Given the description of an element on the screen output the (x, y) to click on. 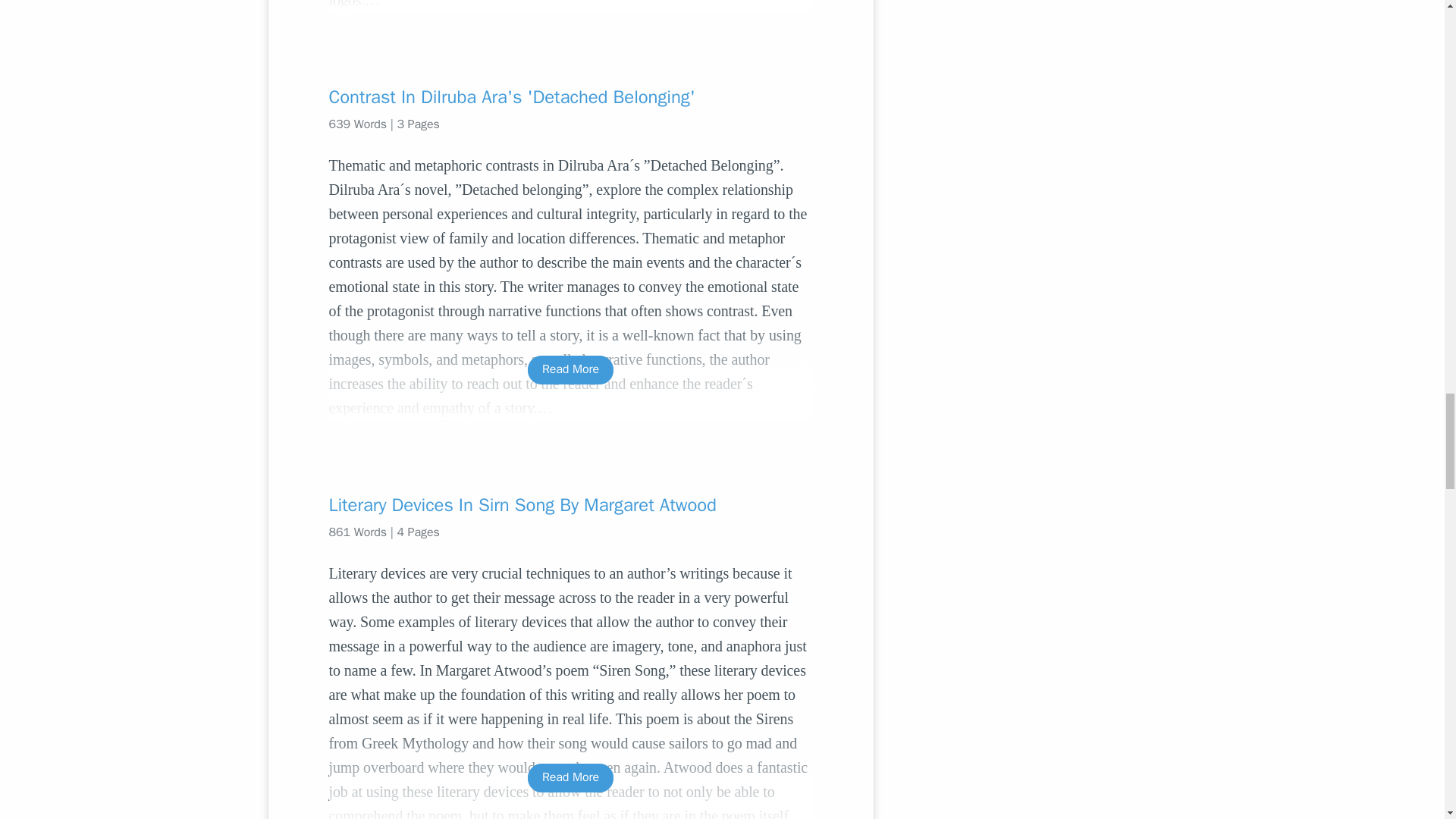
Read More (569, 777)
Literary Devices In Sirn Song By Margaret Atwood (570, 504)
Contrast In Dilruba Ara's 'Detached Belonging' (570, 96)
Read More (569, 369)
